Given the description of an element on the screen output the (x, y) to click on. 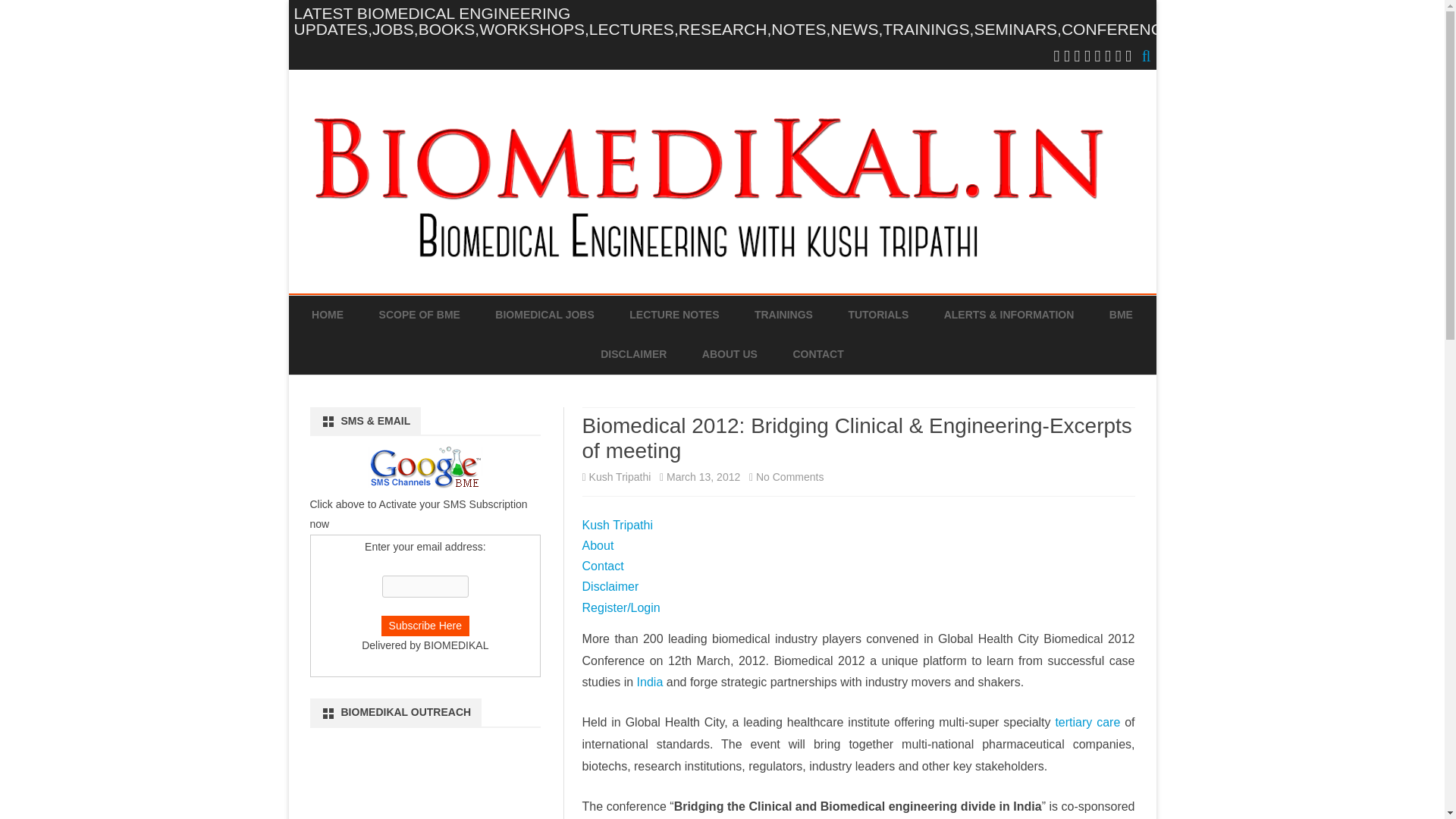
LECTURE NOTES (673, 314)
BIOMEDICAL JOBS (544, 314)
Subscribe Here (425, 626)
TUTORIALS (877, 314)
TRAININGS (783, 314)
SCOPE OF BME (419, 314)
DISCLAIMER (632, 354)
